Given the description of an element on the screen output the (x, y) to click on. 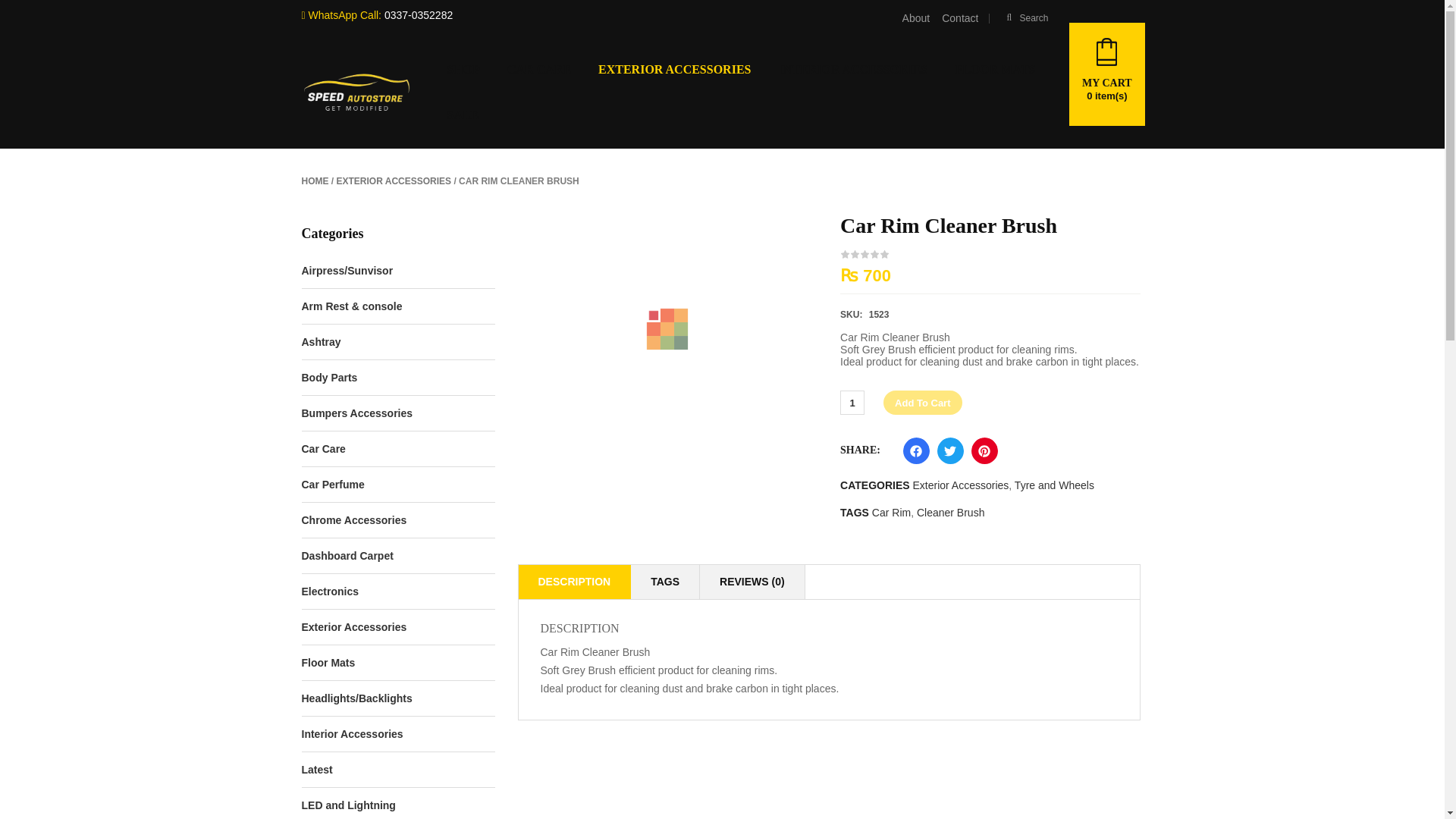
SHOP (462, 69)
Ashtray (320, 341)
HOME (315, 181)
1 (852, 402)
FLOOR MATS (994, 69)
EXTERIOR ACCESSORIES (674, 69)
INTERIOR ACCESSORIES (852, 69)
EXTERIOR ACCESSORIES (393, 181)
0337-0352282 (418, 15)
SALE (462, 115)
